Given the description of an element on the screen output the (x, y) to click on. 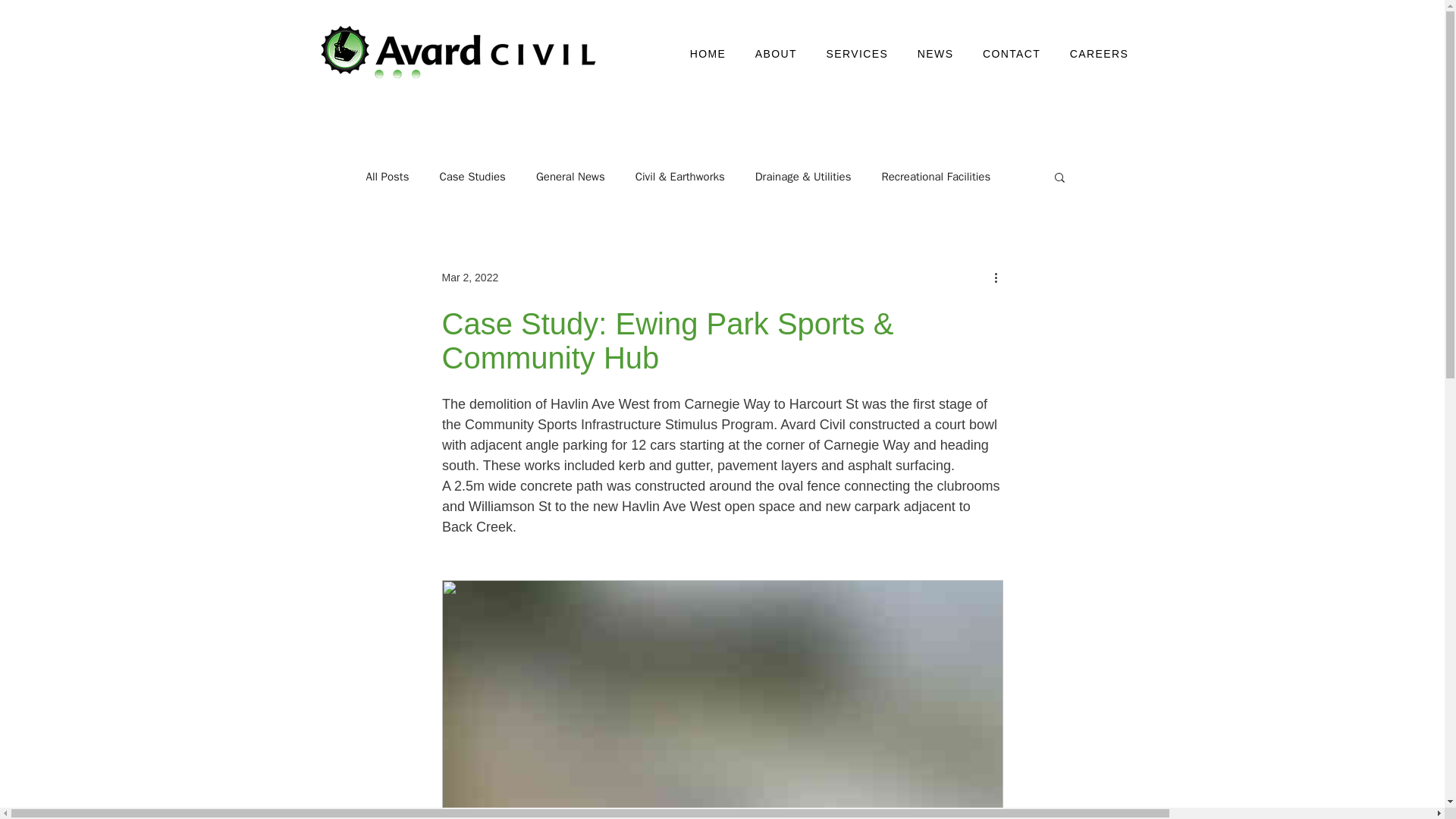
SERVICES (856, 53)
Mar 2, 2022 (469, 277)
General News (570, 176)
Recreational Facilities (935, 176)
HOME (707, 53)
CAREERS (1099, 53)
Case Studies (472, 176)
CONTACT (1011, 53)
All Posts (387, 176)
NEWS (935, 53)
ABOUT (776, 53)
